Given the description of an element on the screen output the (x, y) to click on. 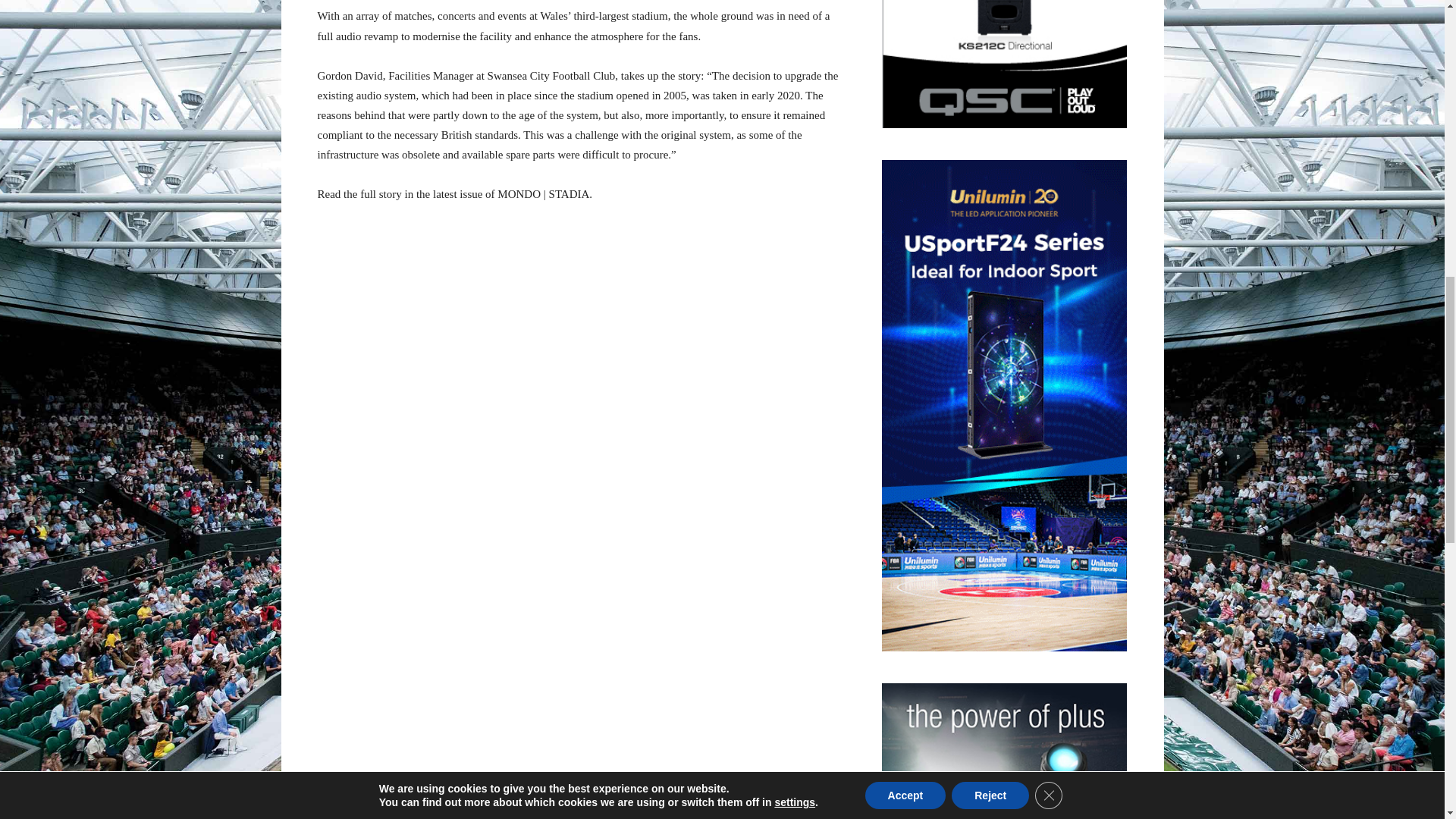
bottomFacebookLike (430, 586)
